Given the description of an element on the screen output the (x, y) to click on. 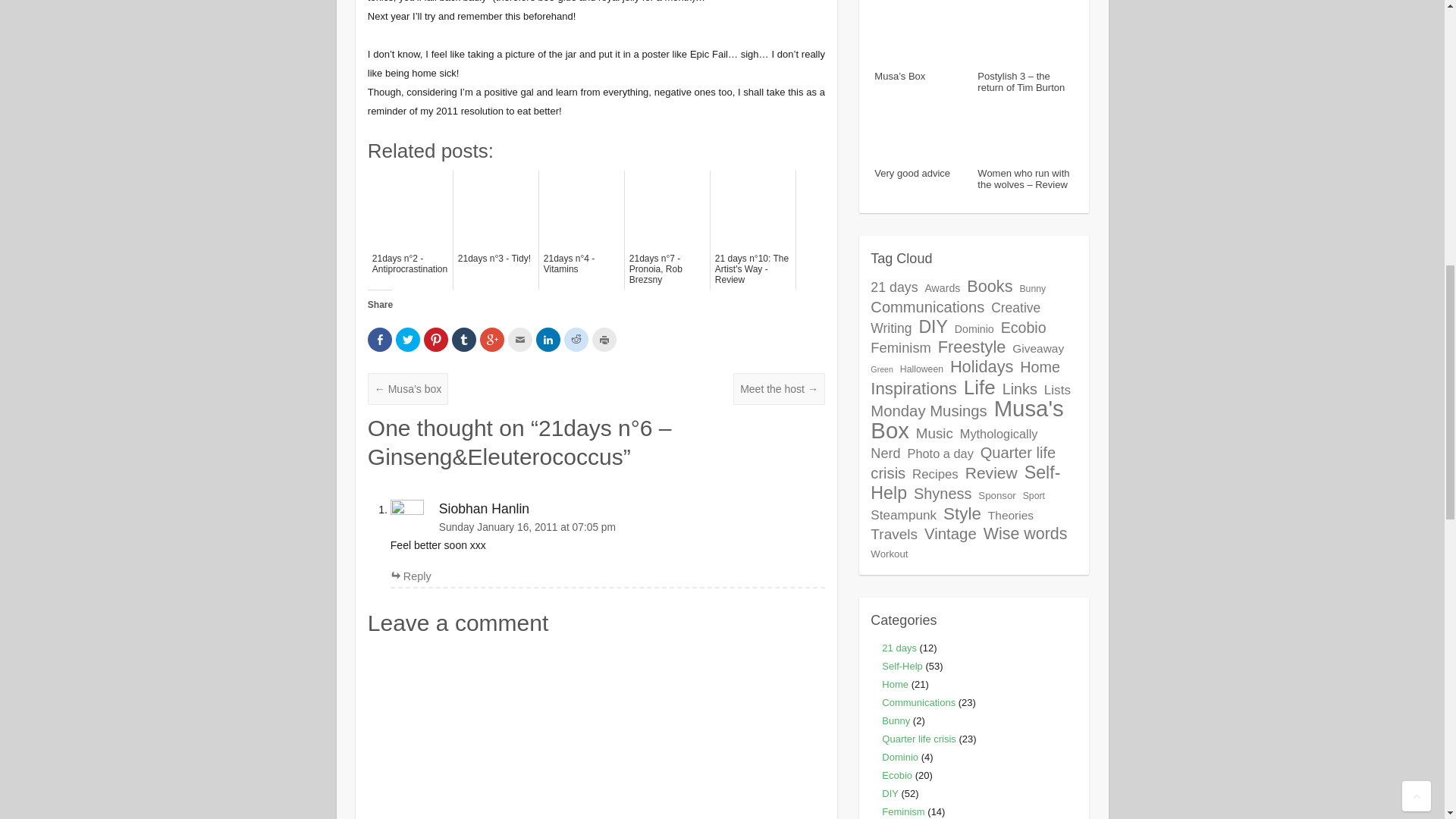
Click to share on LinkedIn (547, 339)
Share on Facebook (379, 339)
Sunday January 16, 2011 at 07:05 pm (607, 527)
Click to share on Pinterest (435, 339)
Click to share on Twitter (408, 339)
Click to email this to a friend (520, 339)
Click to share on Tumblr (463, 339)
Click to share on Reddit (576, 339)
Reply (410, 576)
